Given the description of an element on the screen output the (x, y) to click on. 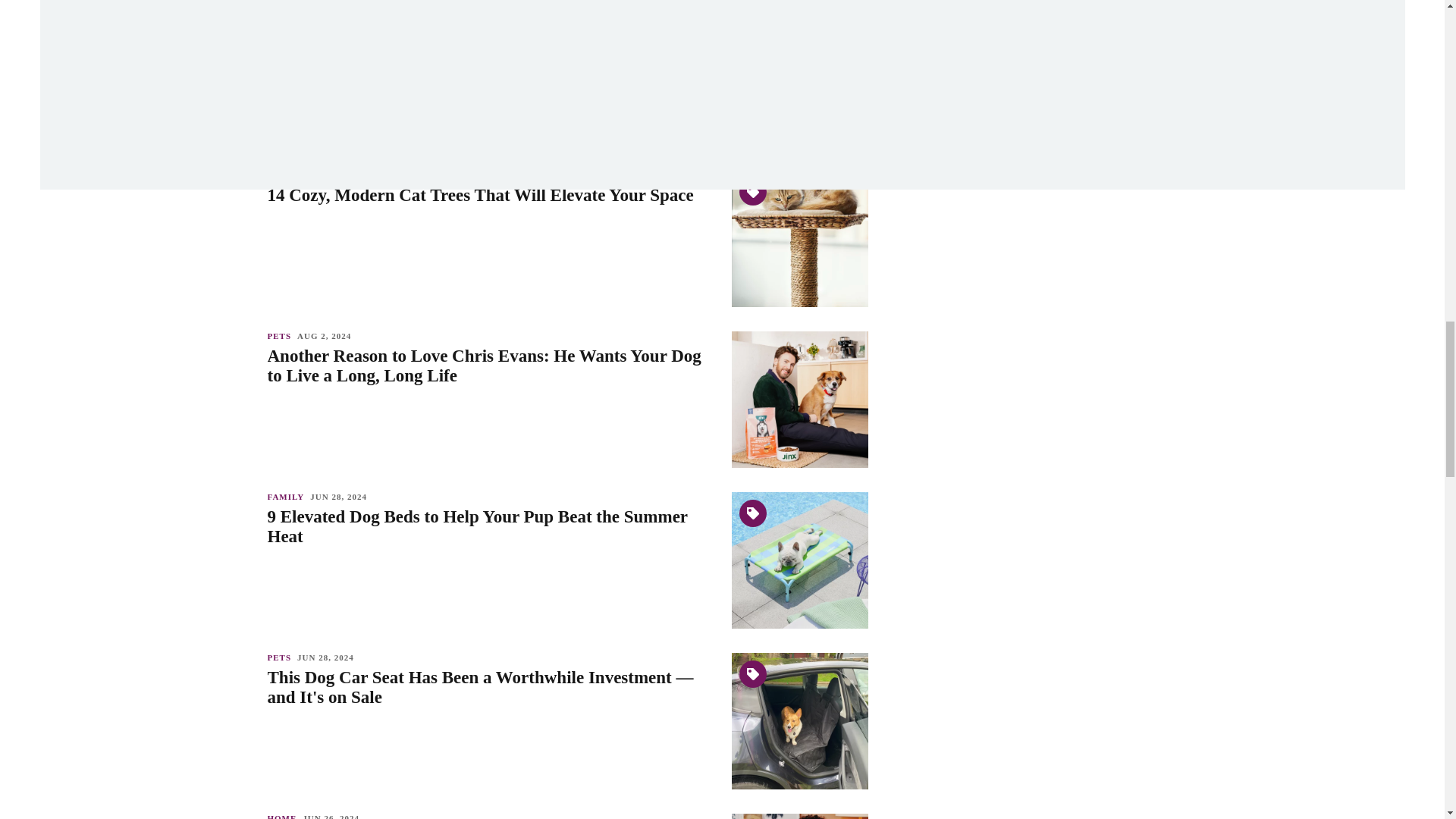
14 Cozy, Modern Cat Trees That Will Elevate Your Space (491, 195)
PETS (281, 13)
PETS (281, 174)
